Given the description of an element on the screen output the (x, y) to click on. 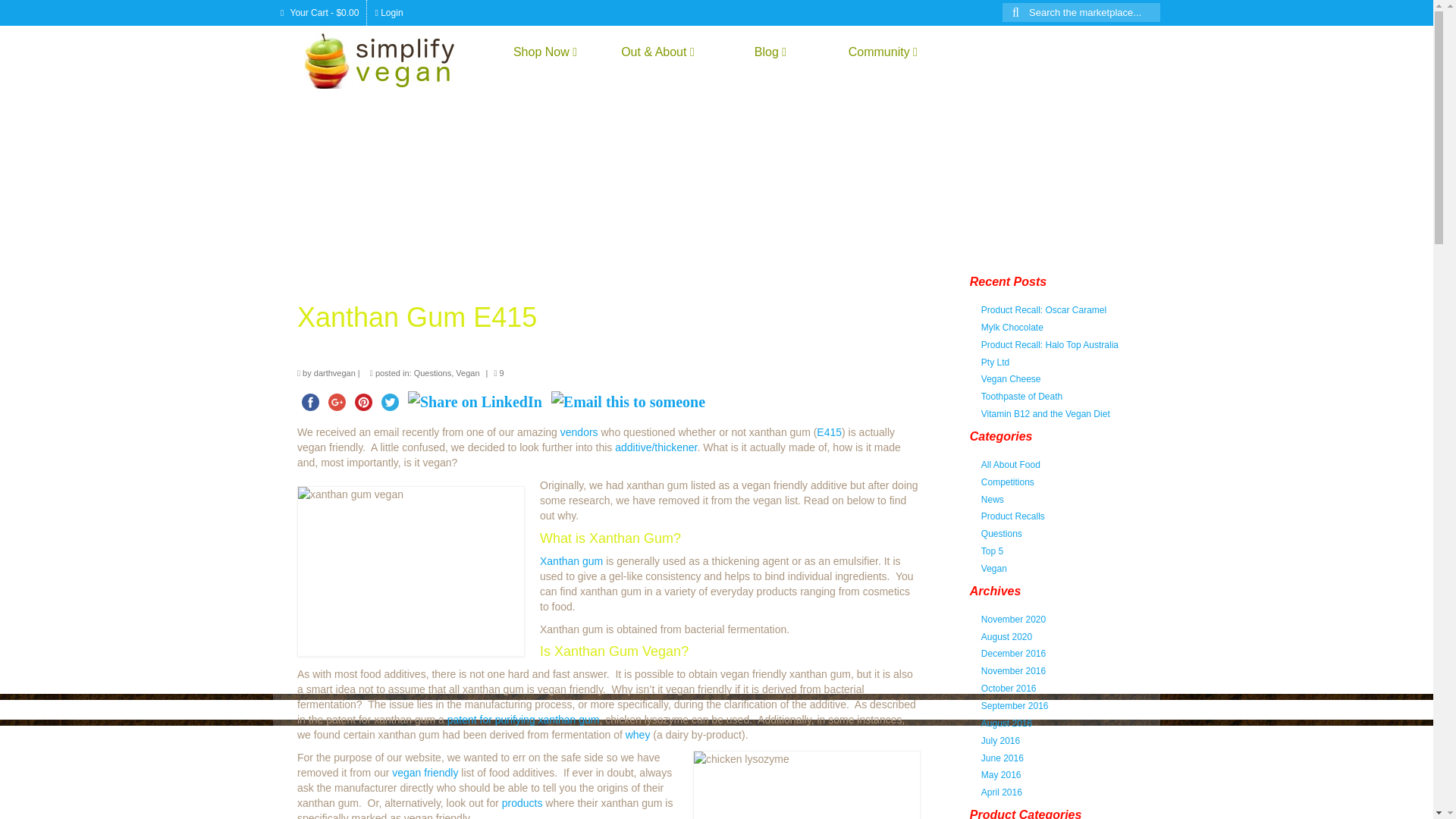
Facebook (310, 402)
LinkedIn (475, 401)
Email (628, 401)
simplifyvegan.com.au (391, 59)
Twitter (390, 402)
Login (388, 12)
Pinterest (363, 402)
View your shopping cart (319, 12)
Login (388, 12)
